Given the description of an element on the screen output the (x, y) to click on. 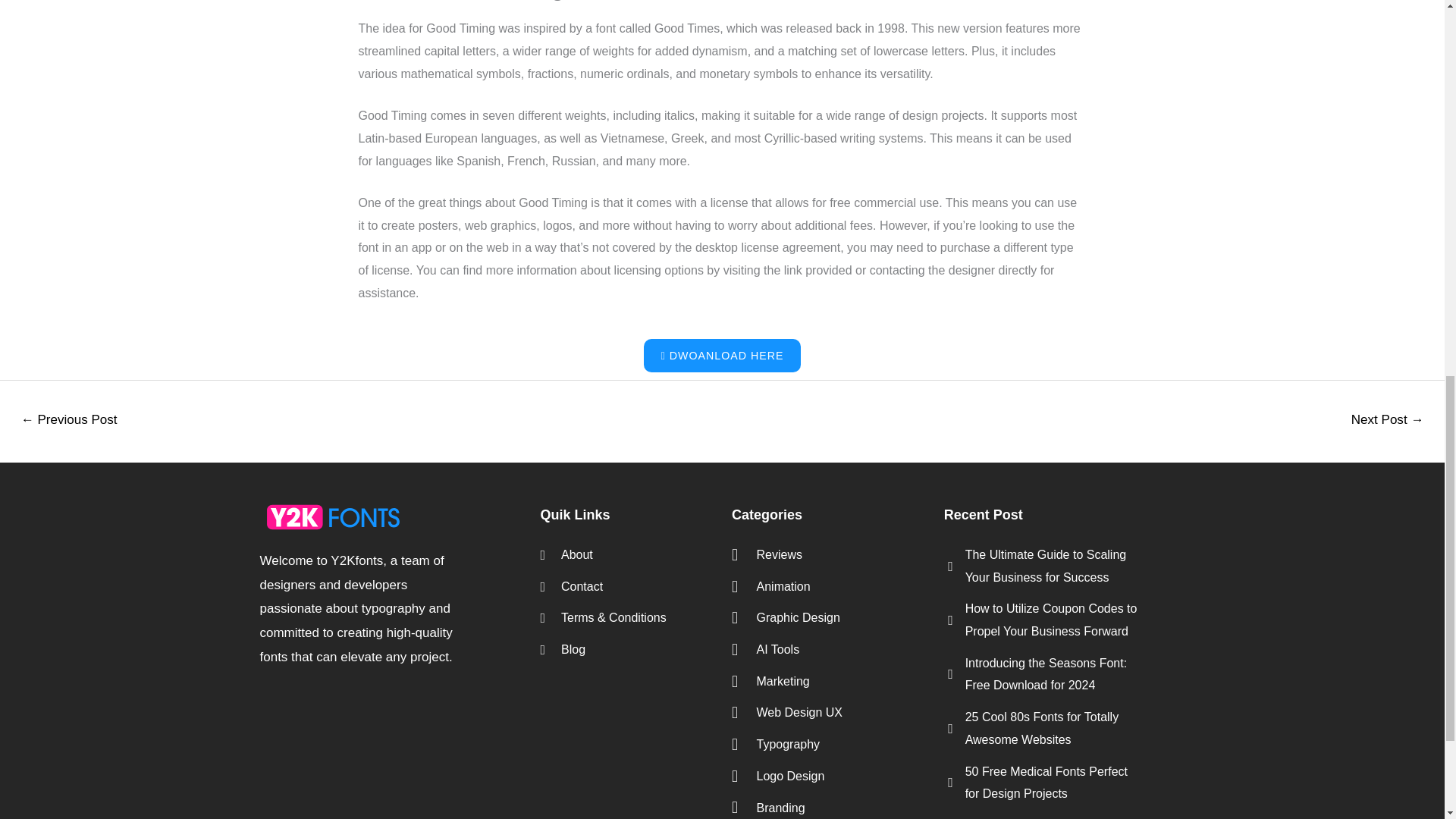
DWOANLOAD HERE (722, 355)
